Given the description of an element on the screen output the (x, y) to click on. 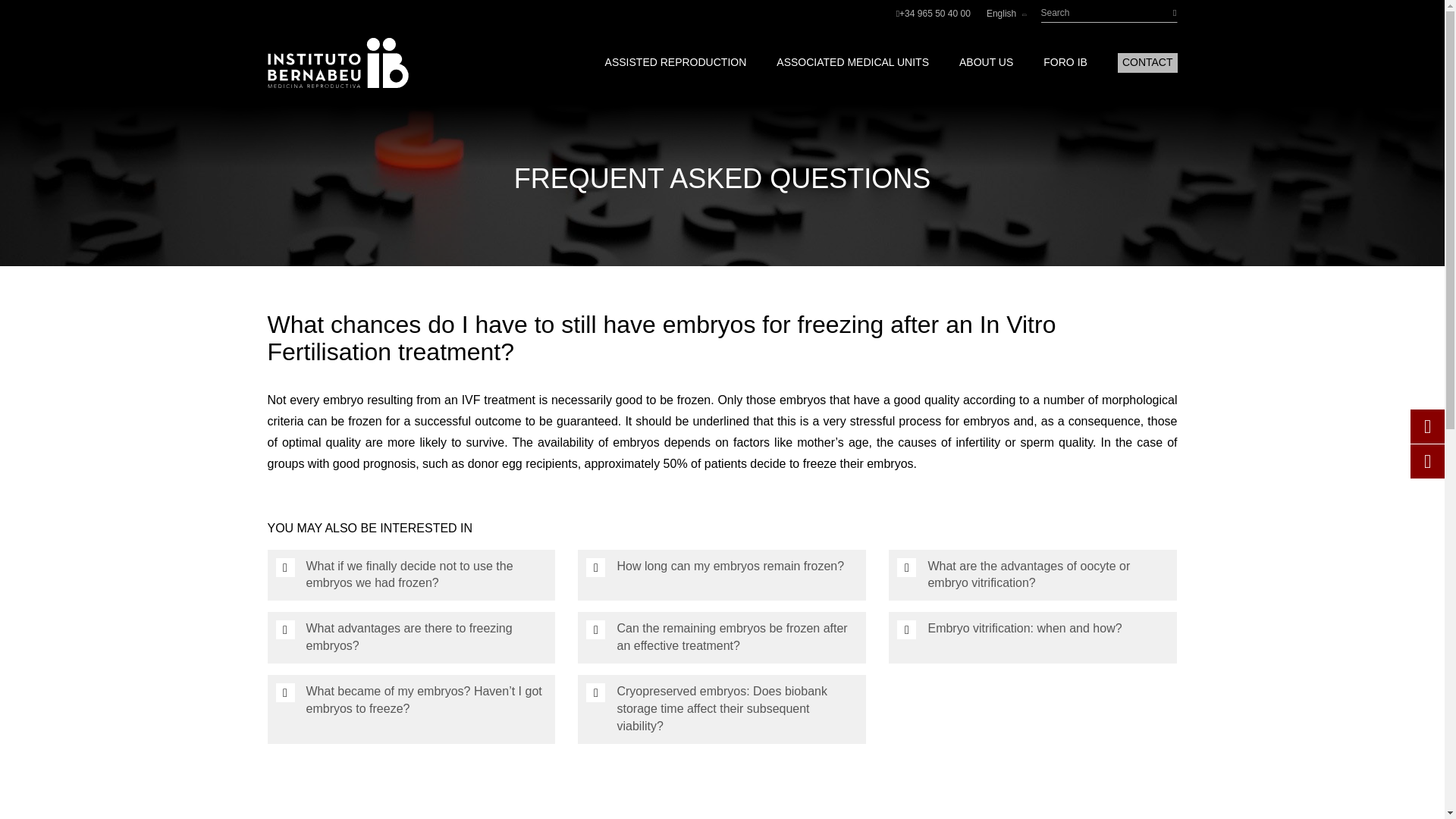
ASSISTED REPRODUCTION (675, 62)
English (1005, 12)
Buscar (1163, 13)
Instituto Bernabeu (336, 62)
Assisted reproduction (675, 62)
